Given the description of an element on the screen output the (x, y) to click on. 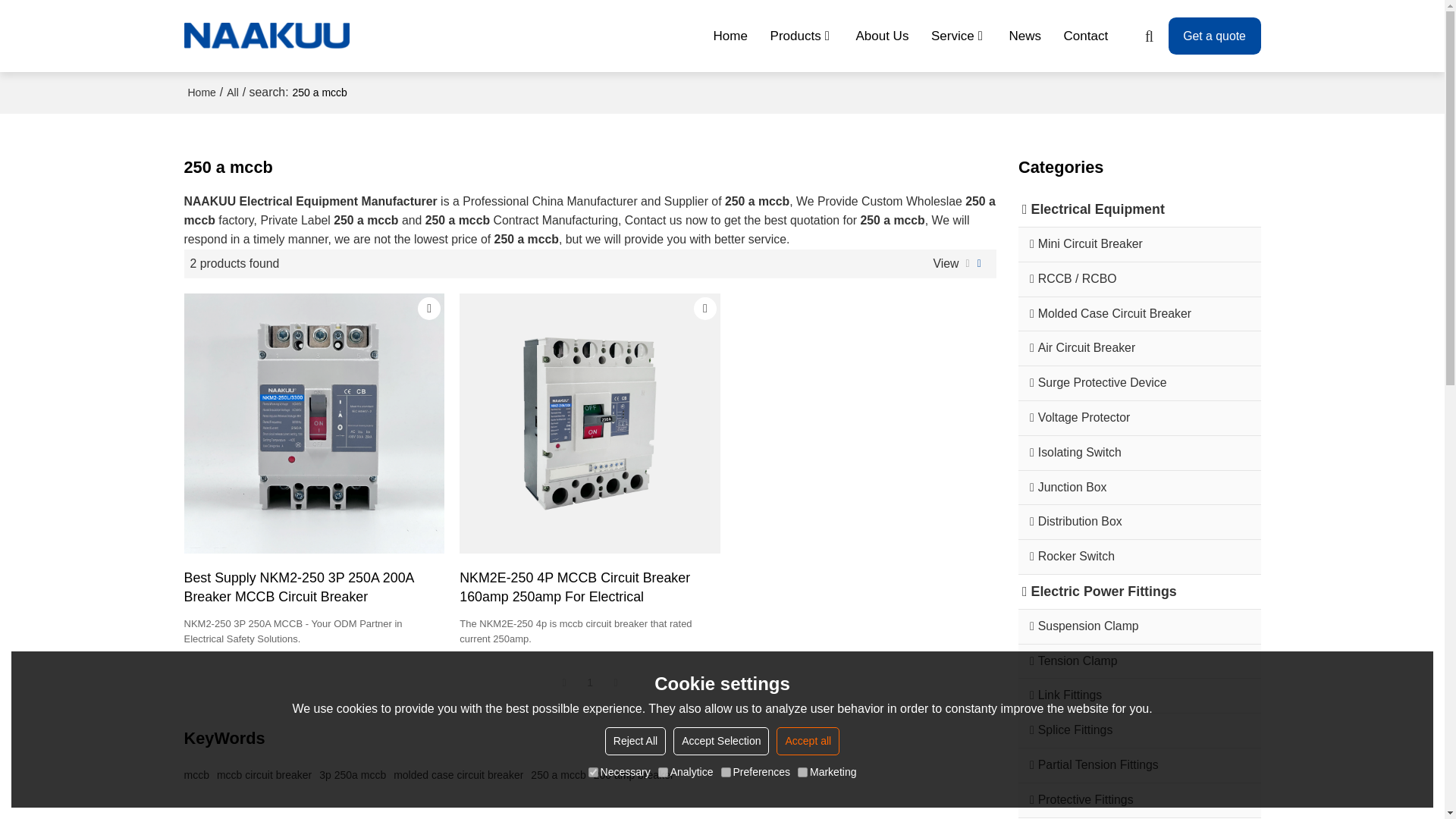
About Us (882, 36)
Products (801, 36)
on (593, 772)
Get a quote (1214, 36)
on (802, 772)
Naakuu Power Hitech Co., Ltd (266, 36)
Products (801, 36)
on (663, 772)
on (725, 772)
Service (958, 36)
